Given the description of an element on the screen output the (x, y) to click on. 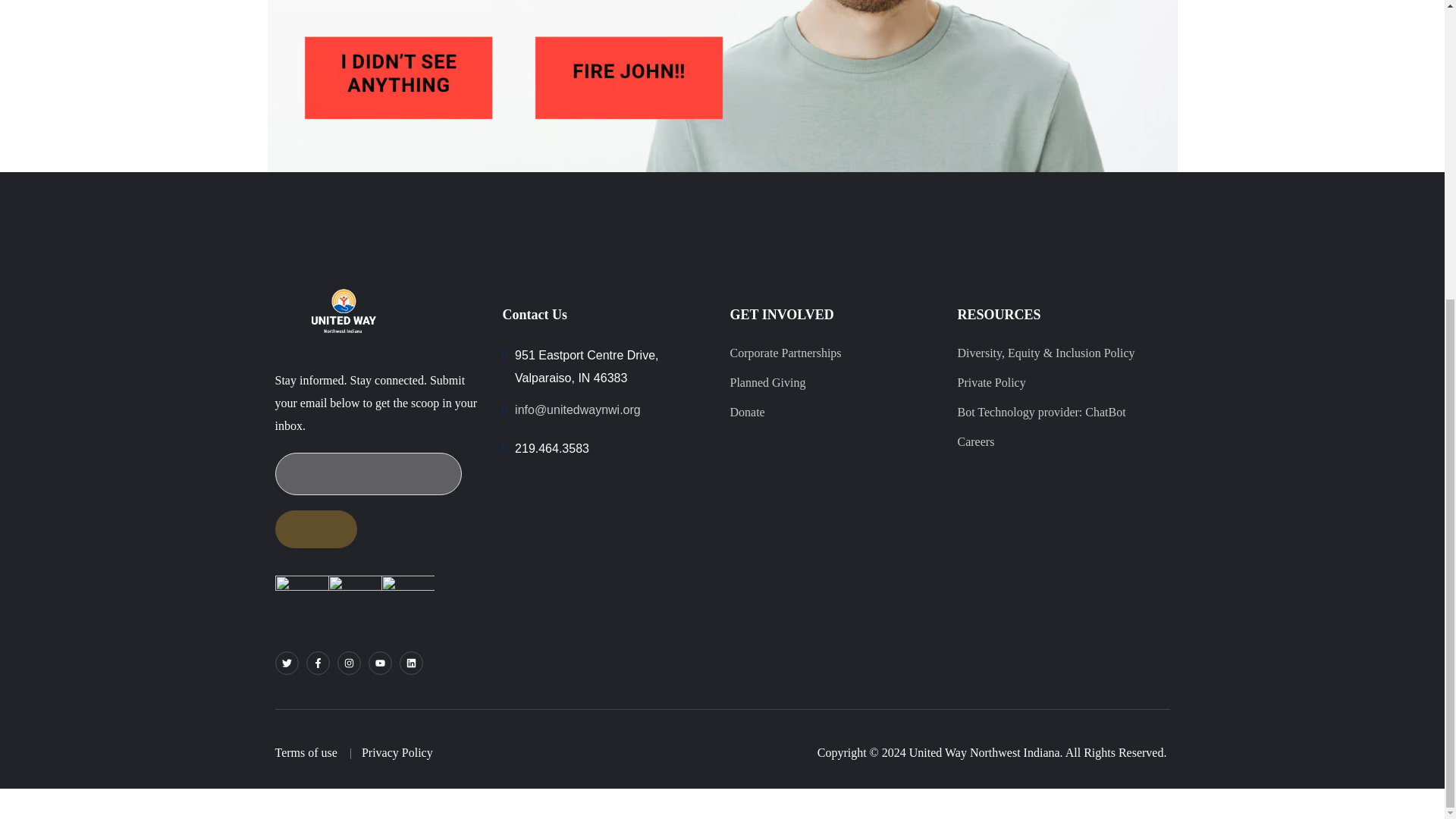
Sign up (315, 528)
Facebook (317, 662)
Twitter (286, 662)
YouTube (379, 662)
LinkedIn (410, 662)
Instagram (347, 662)
